Given the description of an element on the screen output the (x, y) to click on. 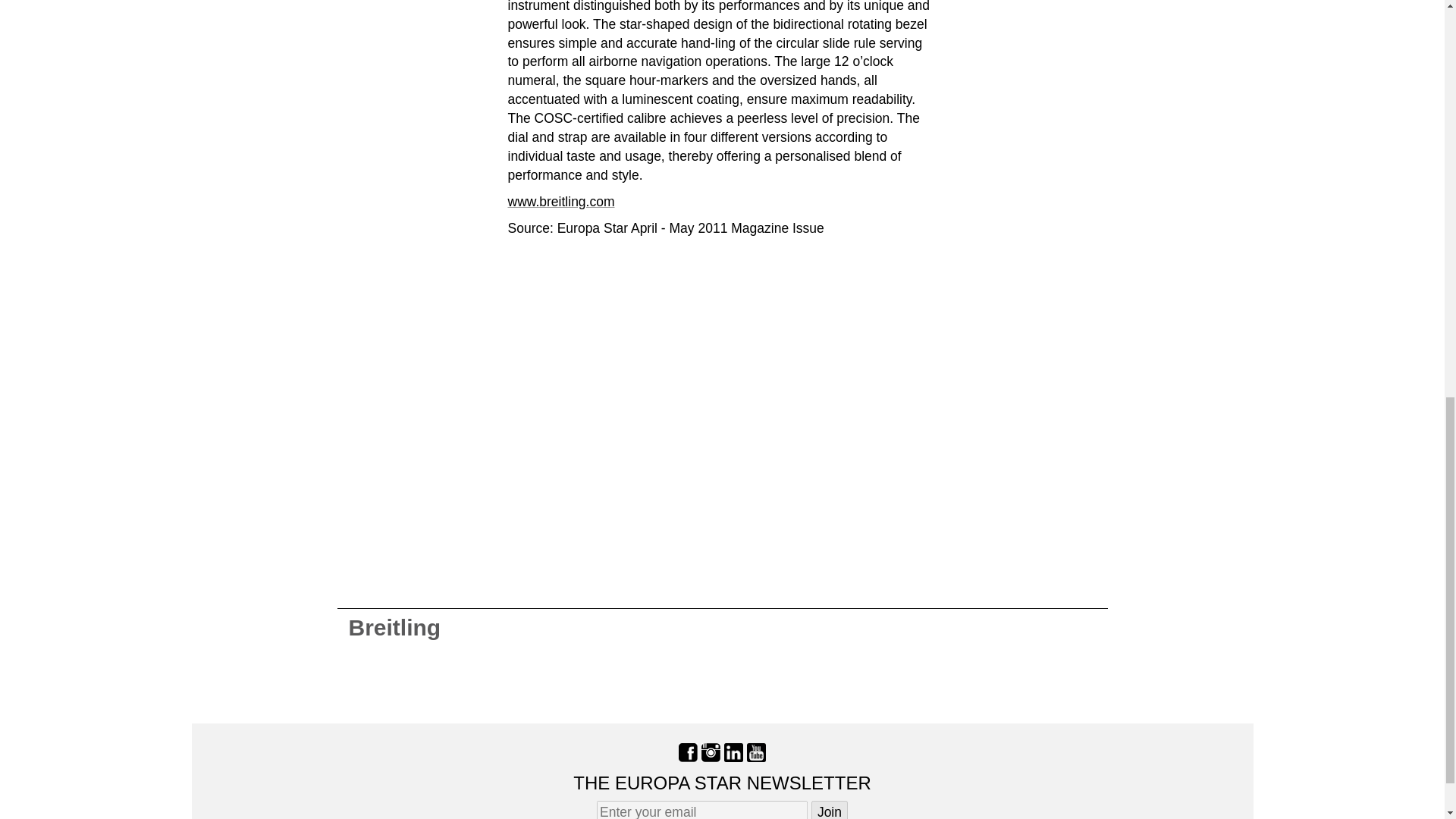
Linkedin (732, 751)
Join (828, 809)
Facebook (687, 751)
Youtube (755, 751)
Instagram (710, 751)
